Given the description of an element on the screen output the (x, y) to click on. 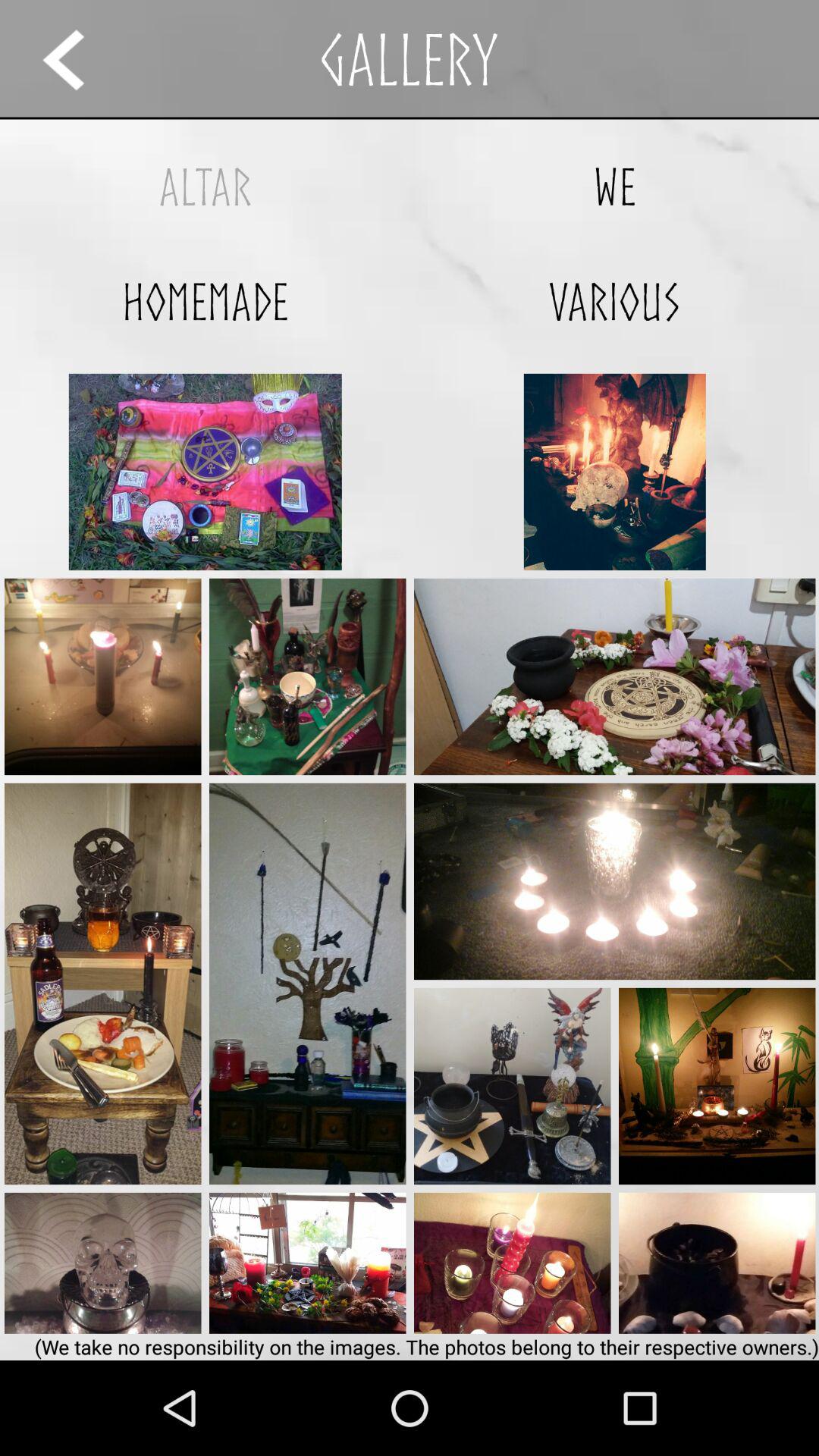
choose the app below the altar app (204, 301)
